Given the description of an element on the screen output the (x, y) to click on. 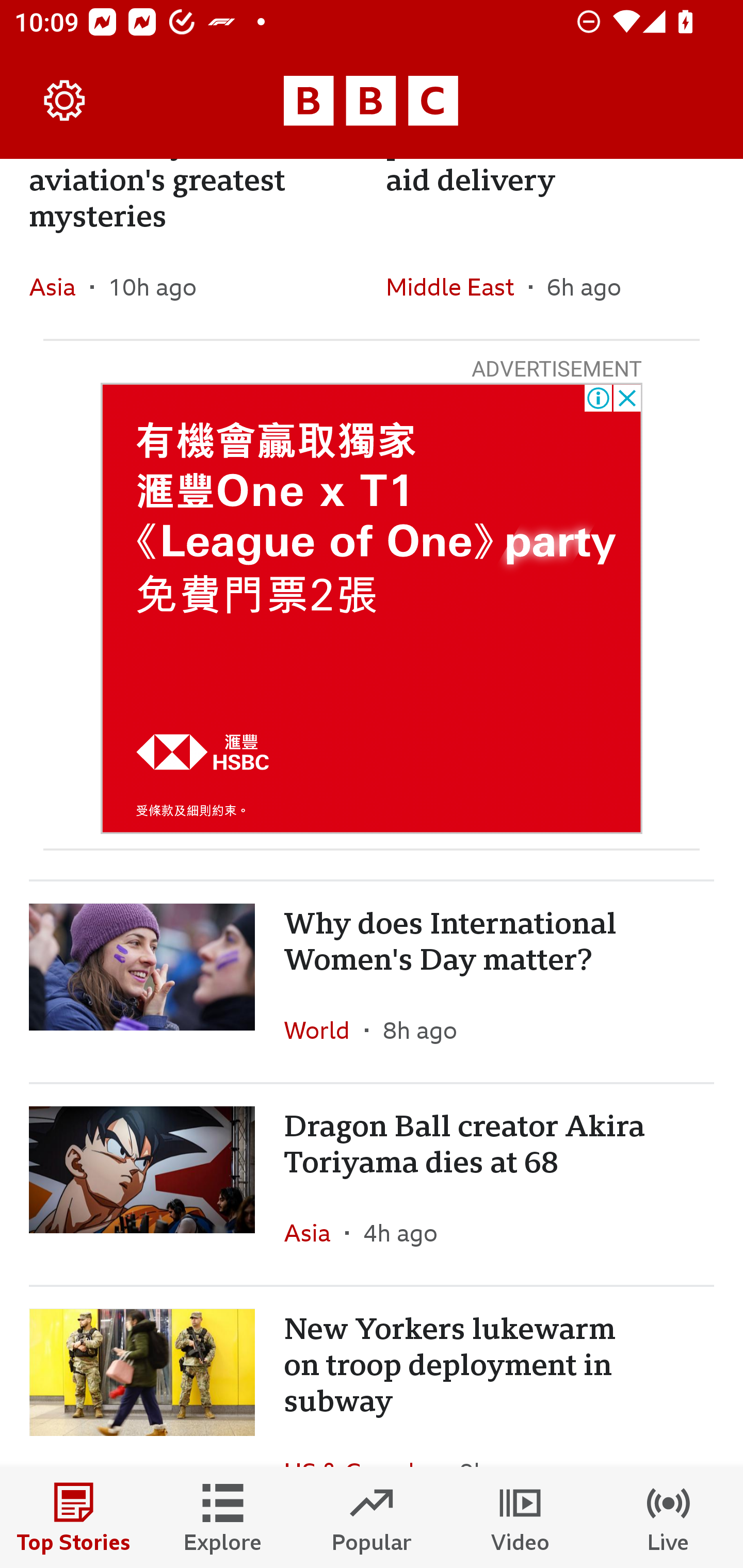
Settings (64, 100)
Asia In the section Asia (59, 286)
Middle East In the section Middle East (457, 286)
HSBC javascript:window.open(window (371, 608)
javascript:window.open(window (371, 608)
World In the section World (323, 1029)
Asia In the section Asia (314, 1232)
Explore (222, 1517)
Popular (371, 1517)
Video (519, 1517)
Live (668, 1517)
